Given the description of an element on the screen output the (x, y) to click on. 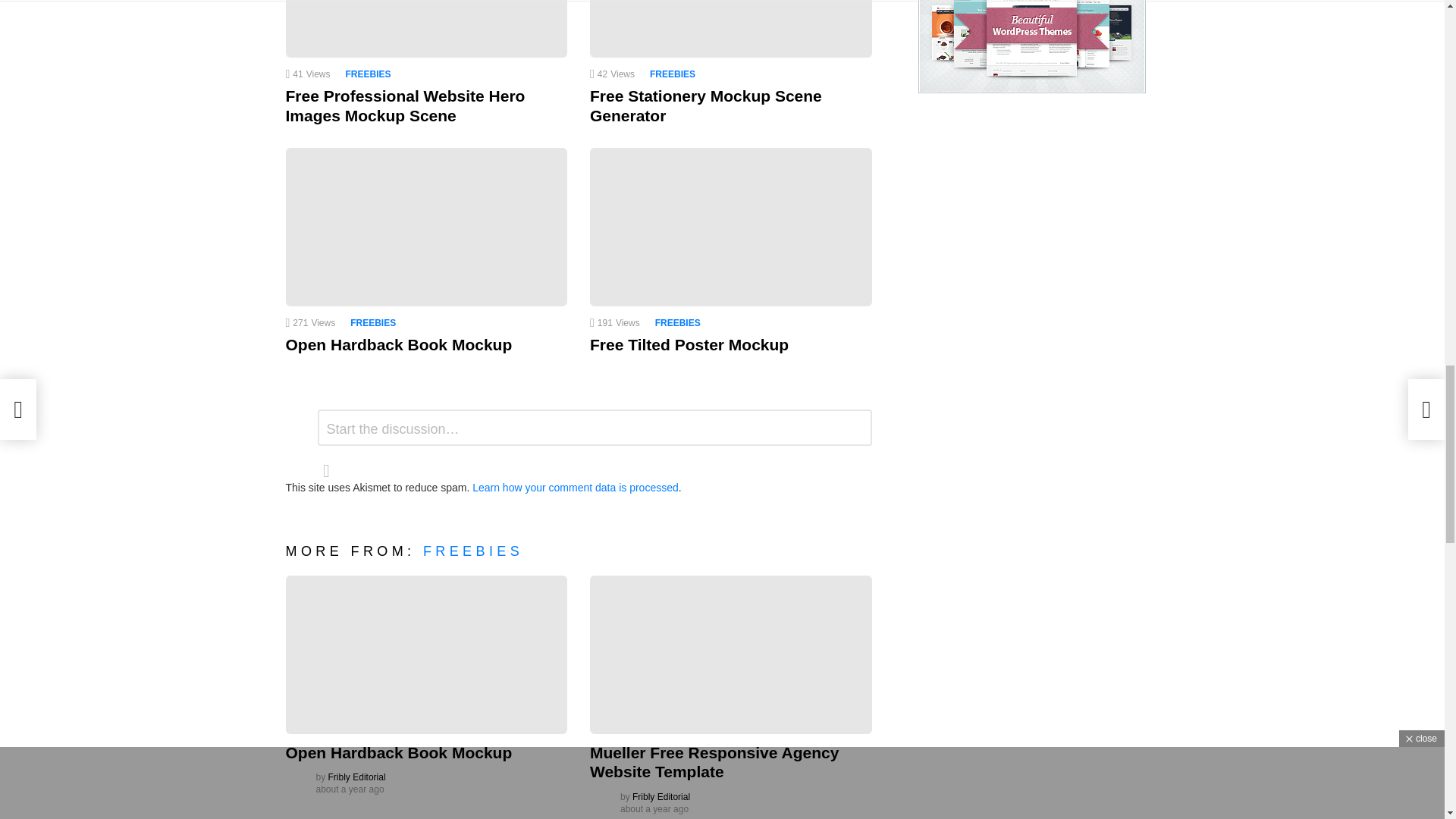
Free Professional Website Hero Images Mockup Scene (426, 28)
Free Stationery Mockup Scene Generator (730, 28)
